Given the description of an element on the screen output the (x, y) to click on. 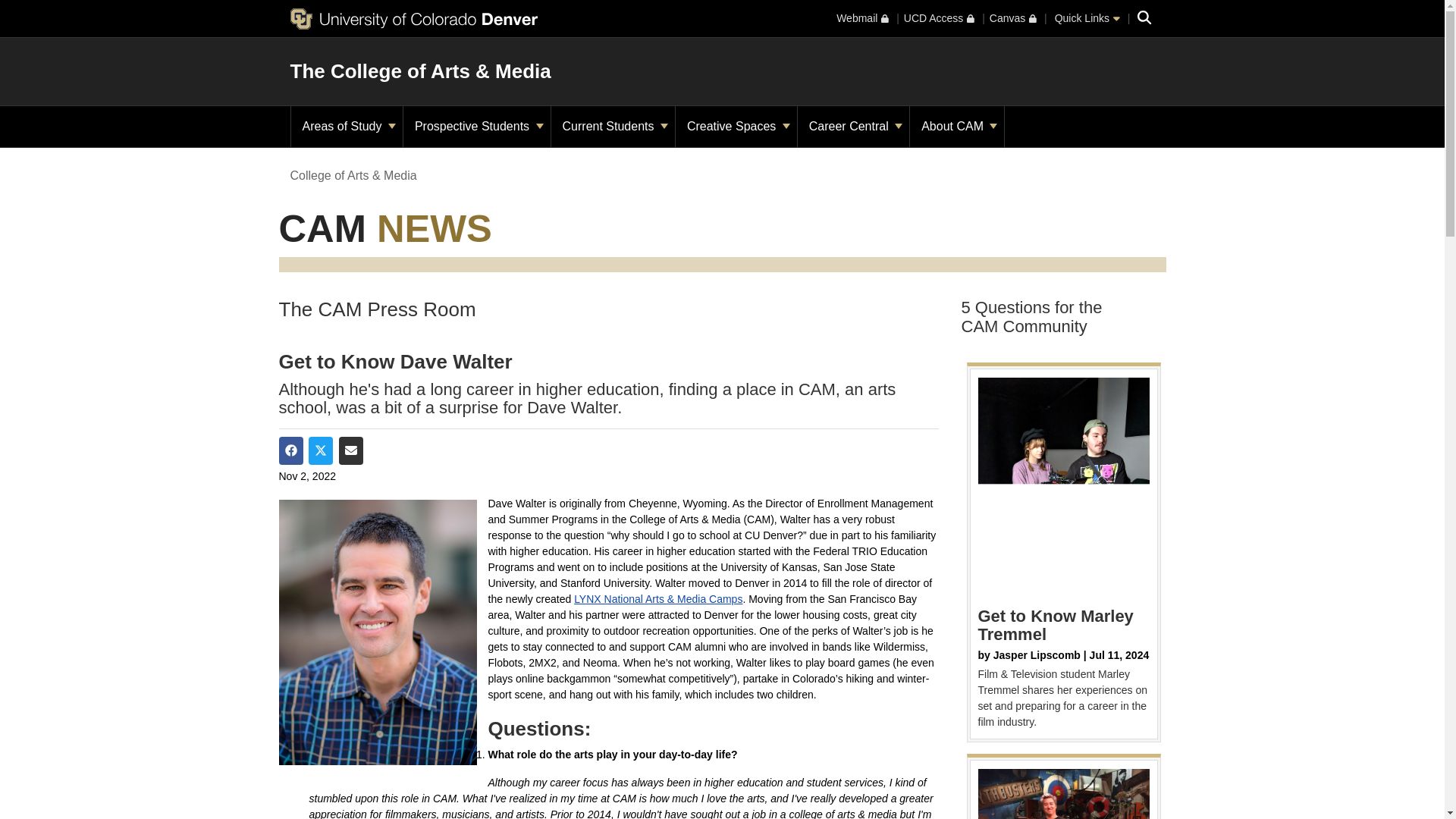
UCD Access (939, 18)
Quick Links (1086, 18)
in the blue print room (1064, 794)
Canvas (1013, 18)
Areas of Study (347, 126)
Webmail (861, 18)
